Given the description of an element on the screen output the (x, y) to click on. 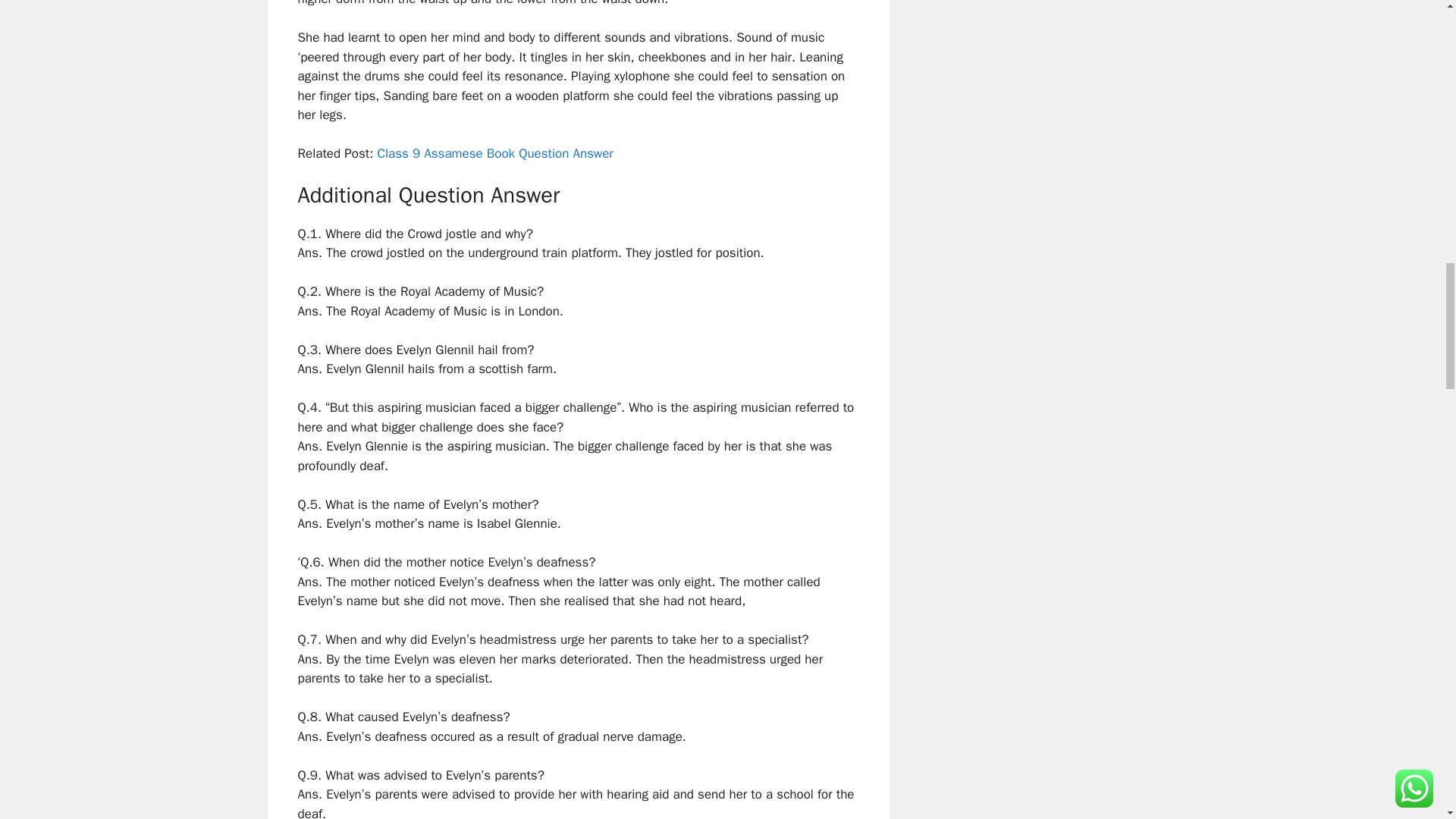
Class 9 Assamese Book Question Answer (494, 153)
